Given the description of an element on the screen output the (x, y) to click on. 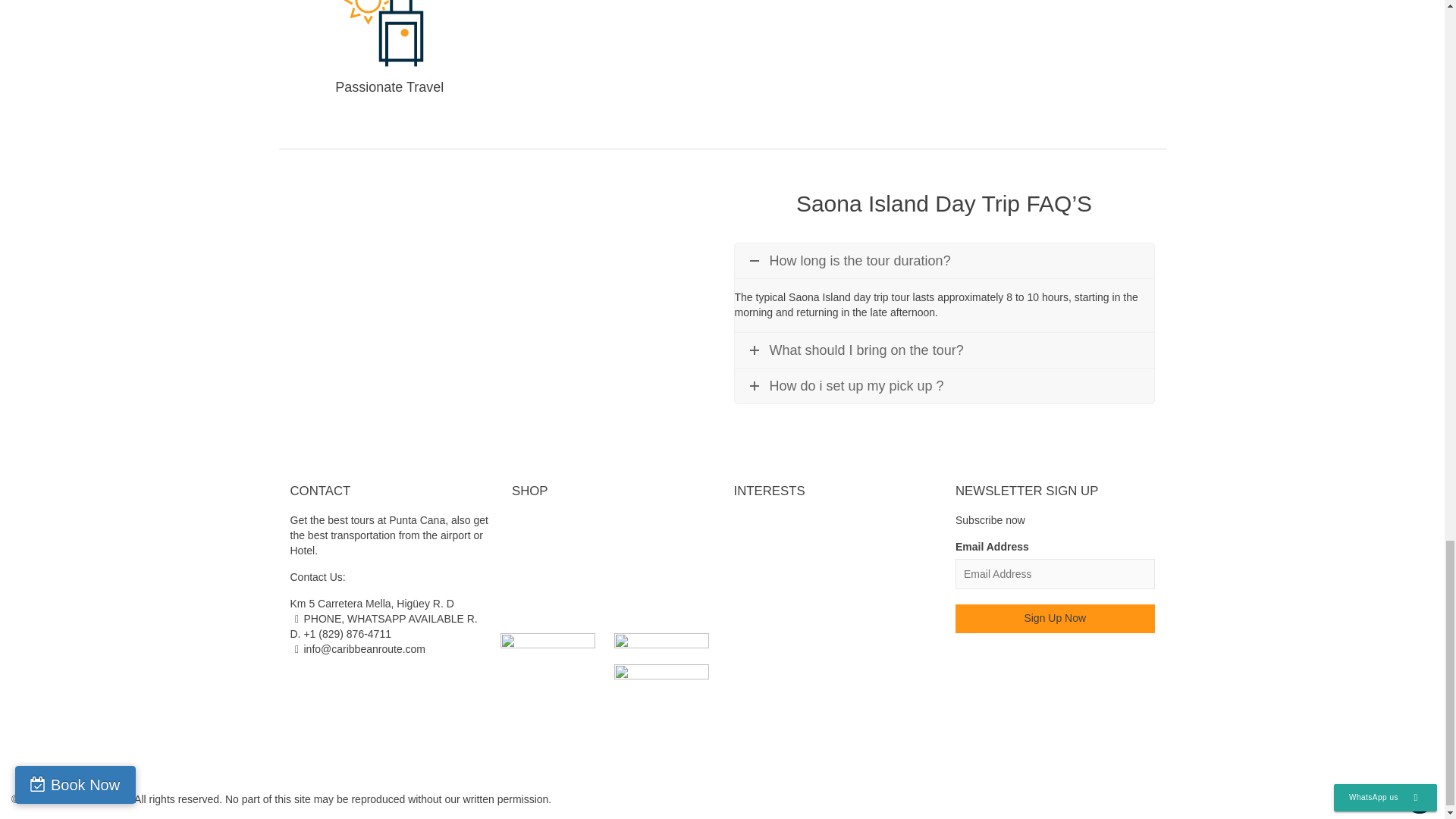
What should I bring on the tour? (943, 349)
How do i set up my pick up ? (943, 385)
How long is the tour duration? (943, 260)
eBooks (611, 535)
Sign Up Now (1054, 618)
Saona Island Day Trip From Punta Cana by Caribbean Route (499, 294)
Destination guides (611, 520)
